Given the description of an element on the screen output the (x, y) to click on. 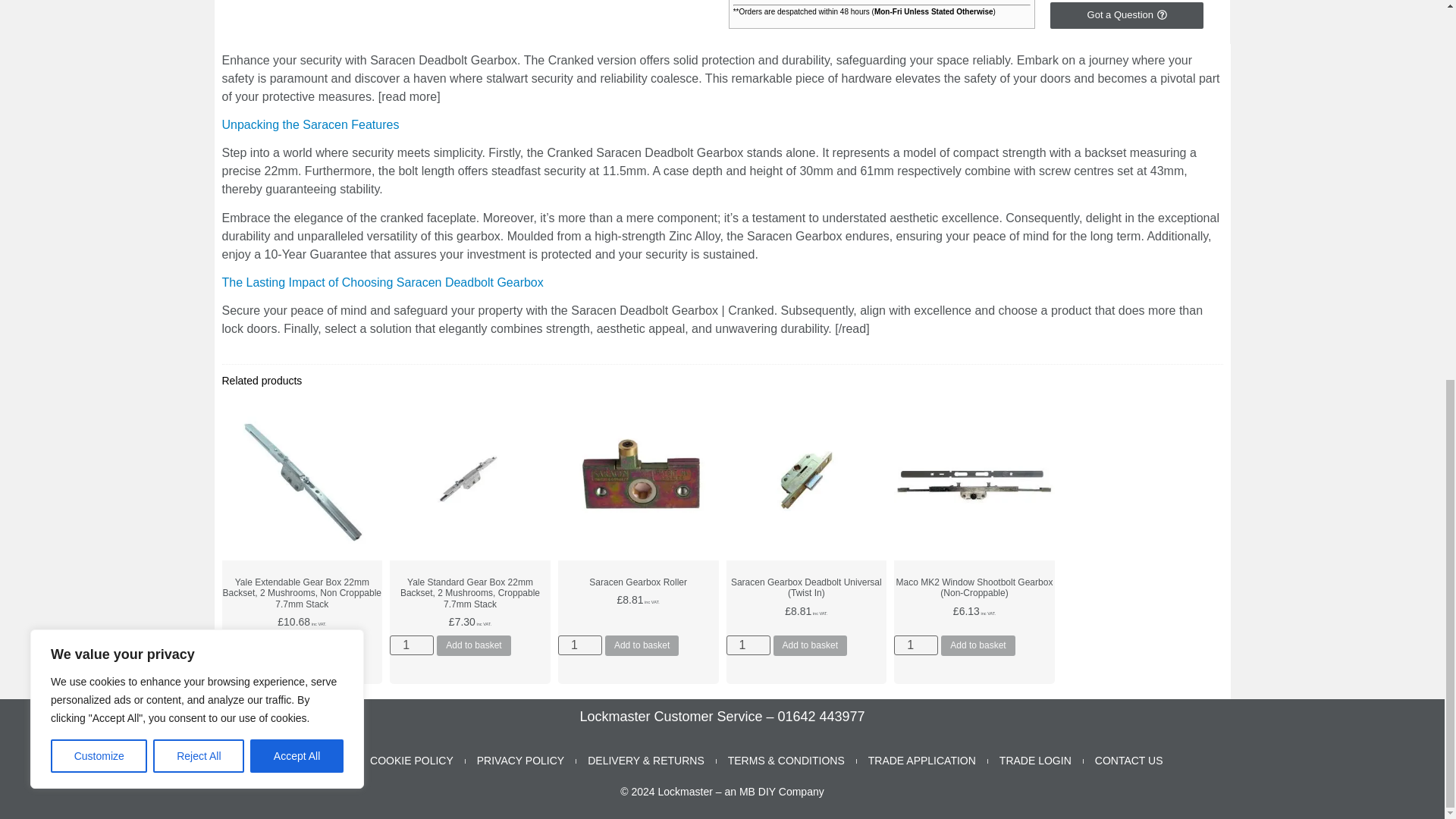
1 (411, 645)
1 (915, 645)
Reject All (198, 49)
Accept All (296, 49)
1 (579, 645)
1 (748, 645)
1 (242, 645)
Customize (98, 49)
